Given the description of an element on the screen output the (x, y) to click on. 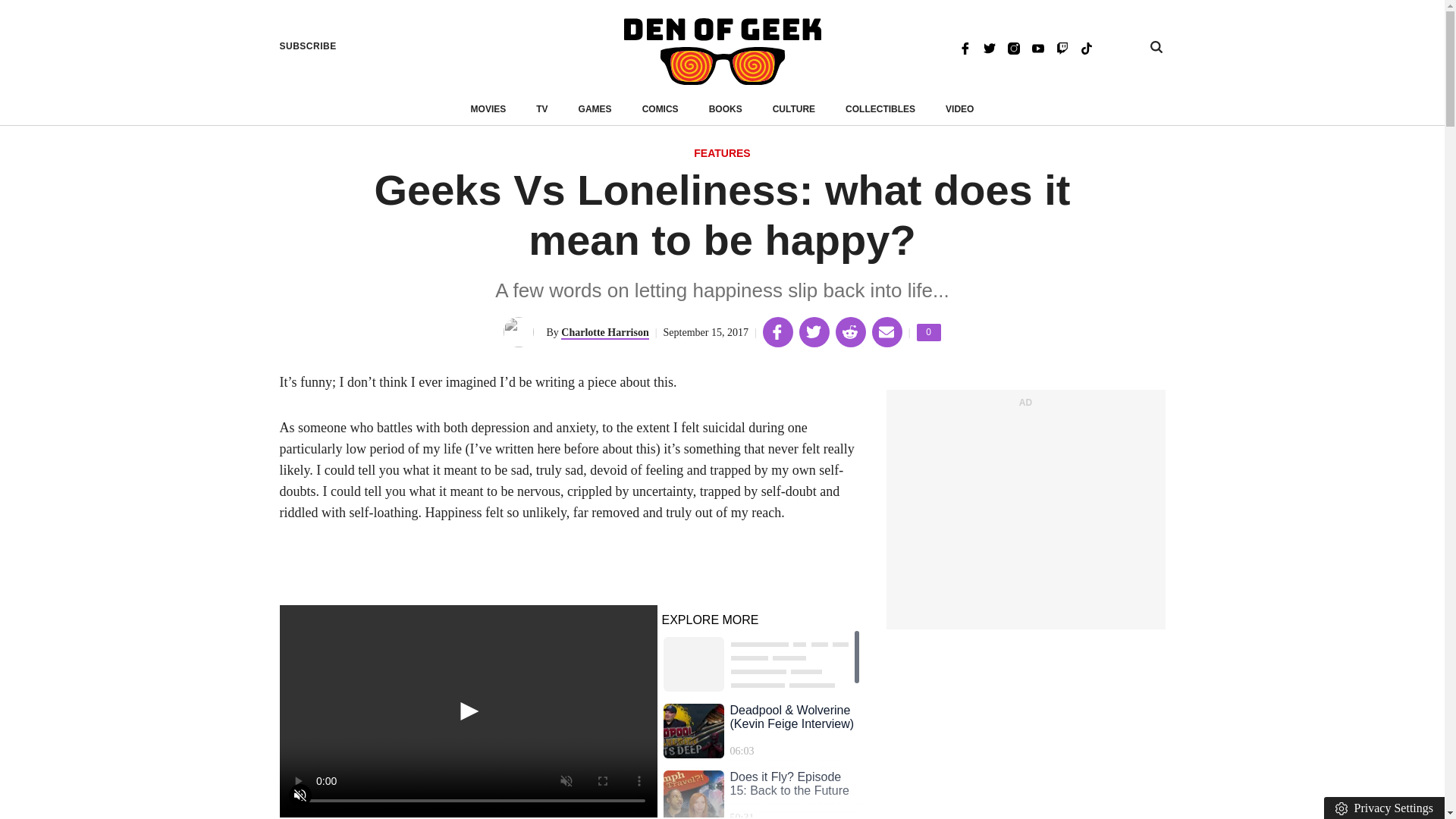
MOVIES (488, 109)
Charlotte Harrison (603, 332)
SUBSCRIBE (307, 46)
BOOKS (725, 109)
VIDEO (959, 109)
Twitch (1061, 46)
FEATURES (721, 153)
COLLECTIBLES (880, 109)
GAMES (594, 109)
COMICS (660, 109)
Den of Geek (928, 332)
50 (722, 52)
Twitter (467, 817)
CULTURE (988, 46)
